Given the description of an element on the screen output the (x, y) to click on. 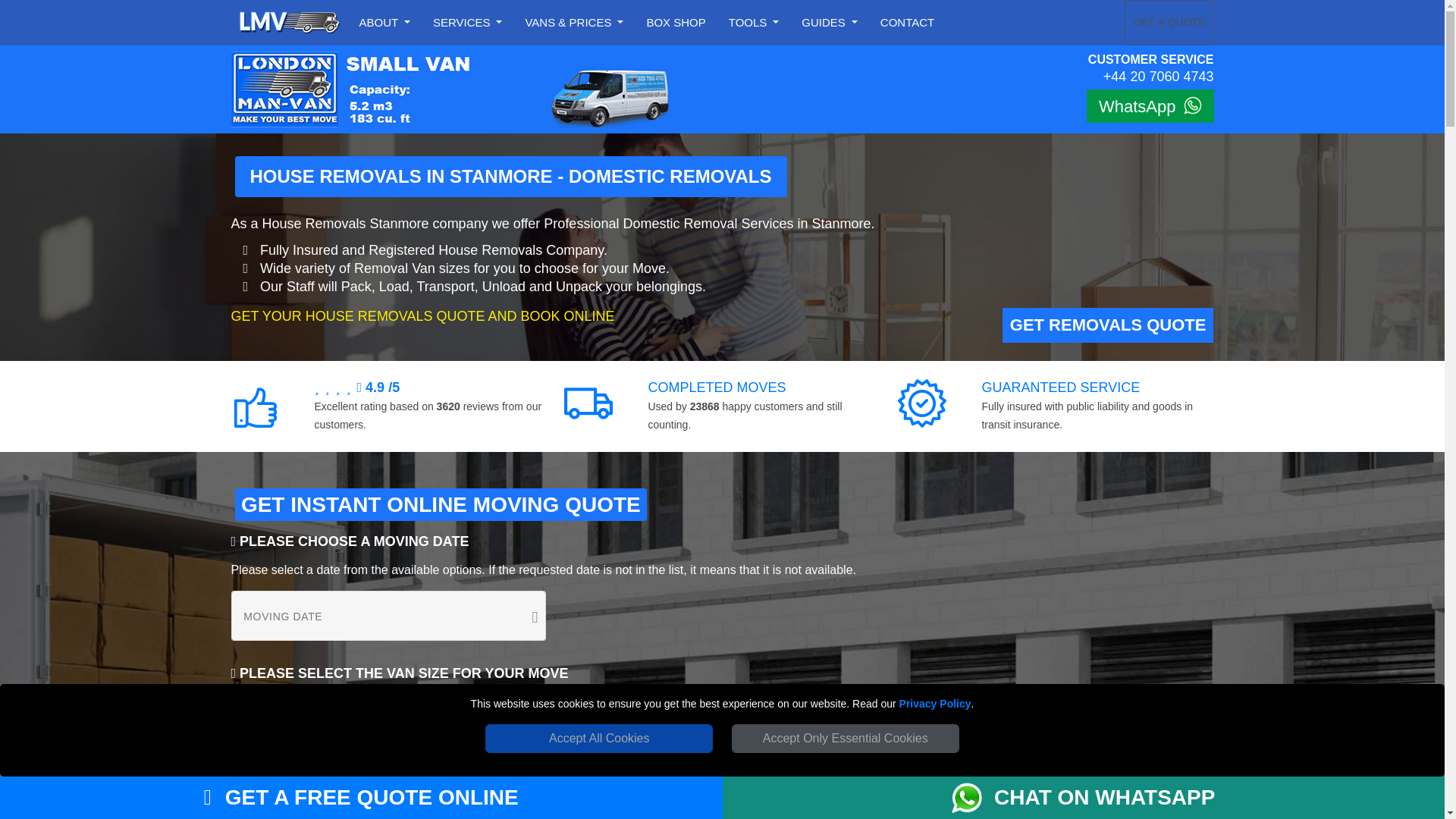
LONDON MAN VAN Homepage (288, 22)
Box Shop (676, 22)
GUIDES (828, 22)
WhatsApp (1150, 105)
GET A QUOTE (1168, 22)
ABOUT (384, 22)
TOOLS (753, 22)
LONDON MAN VAN (288, 22)
BOX SHOP (676, 22)
SERVICES (468, 22)
